Given the description of an element on the screen output the (x, y) to click on. 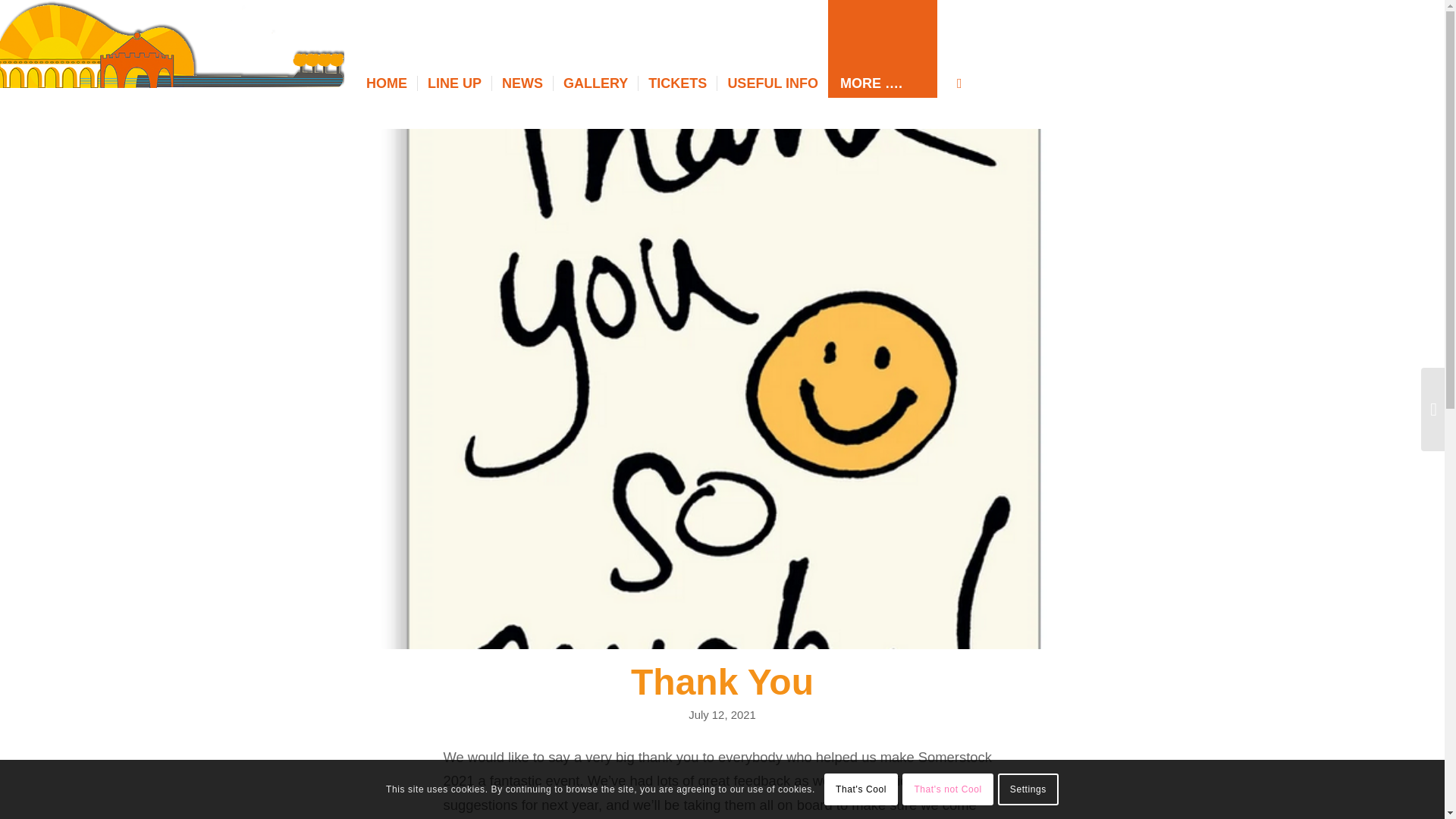
That's not Cool (947, 789)
GALLERY (595, 82)
Settings (1027, 789)
That's Cool (861, 789)
guitar2 (171, 45)
USEFUL INFO (772, 82)
